Given the description of an element on the screen output the (x, y) to click on. 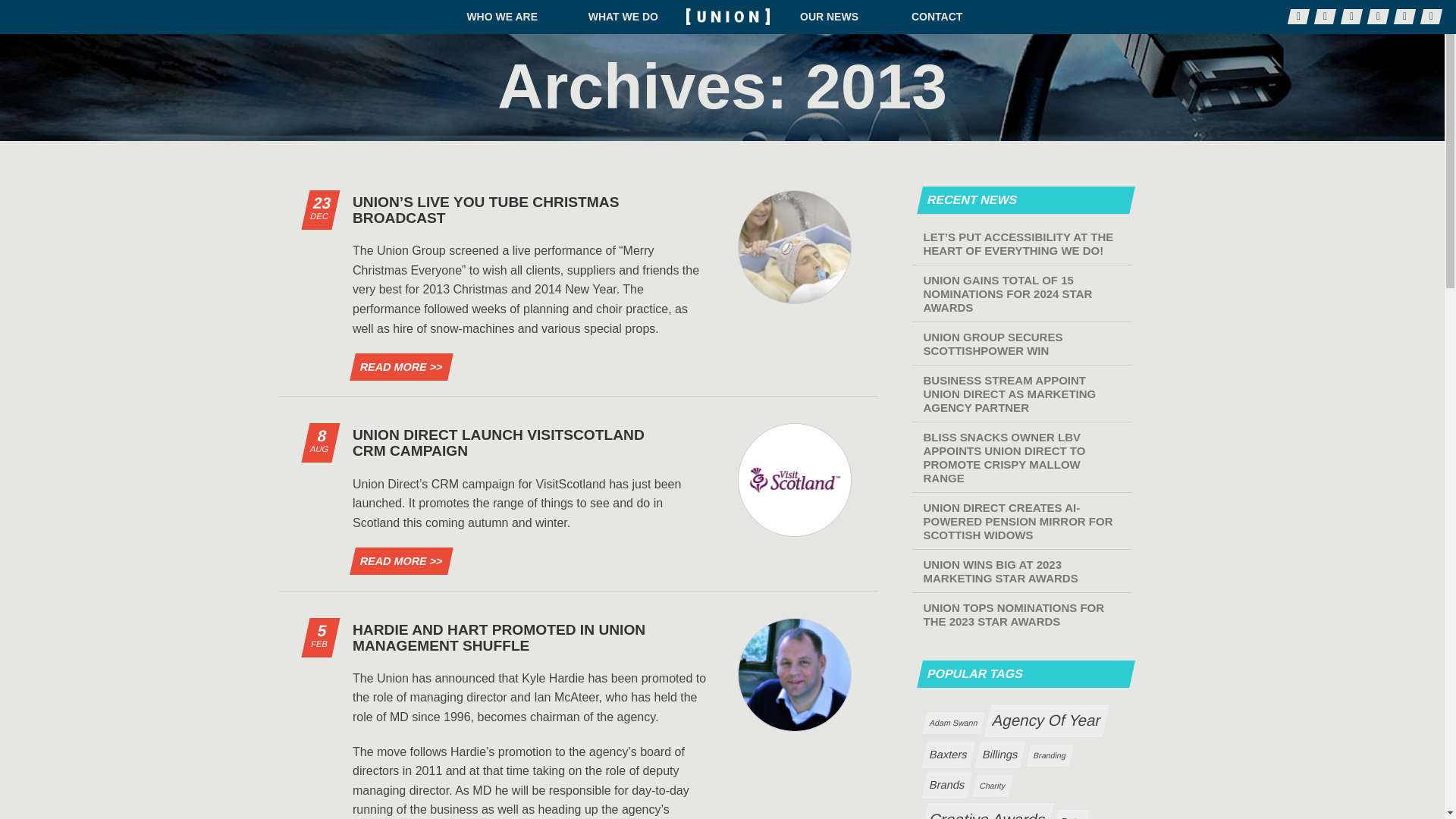
UNION DIRECT LAUNCH VISITSCOTLAND CRM CAMPAIGN (498, 442)
OUR NEWS (829, 17)
FACEBOOK (1296, 16)
Read more (397, 366)
LINKEDIN (1349, 16)
CONTACT (936, 17)
PINTEREST (1376, 16)
WHO WE ARE (501, 17)
INSTAGRAM (1430, 16)
Read more (397, 560)
HARDIE AND HART PROMOTED IN UNION MANAGEMENT SHUFFLE (498, 637)
WHAT WE DO (623, 17)
YOUTUBE (1402, 16)
TWITTER (1323, 16)
